Given the description of an element on the screen output the (x, y) to click on. 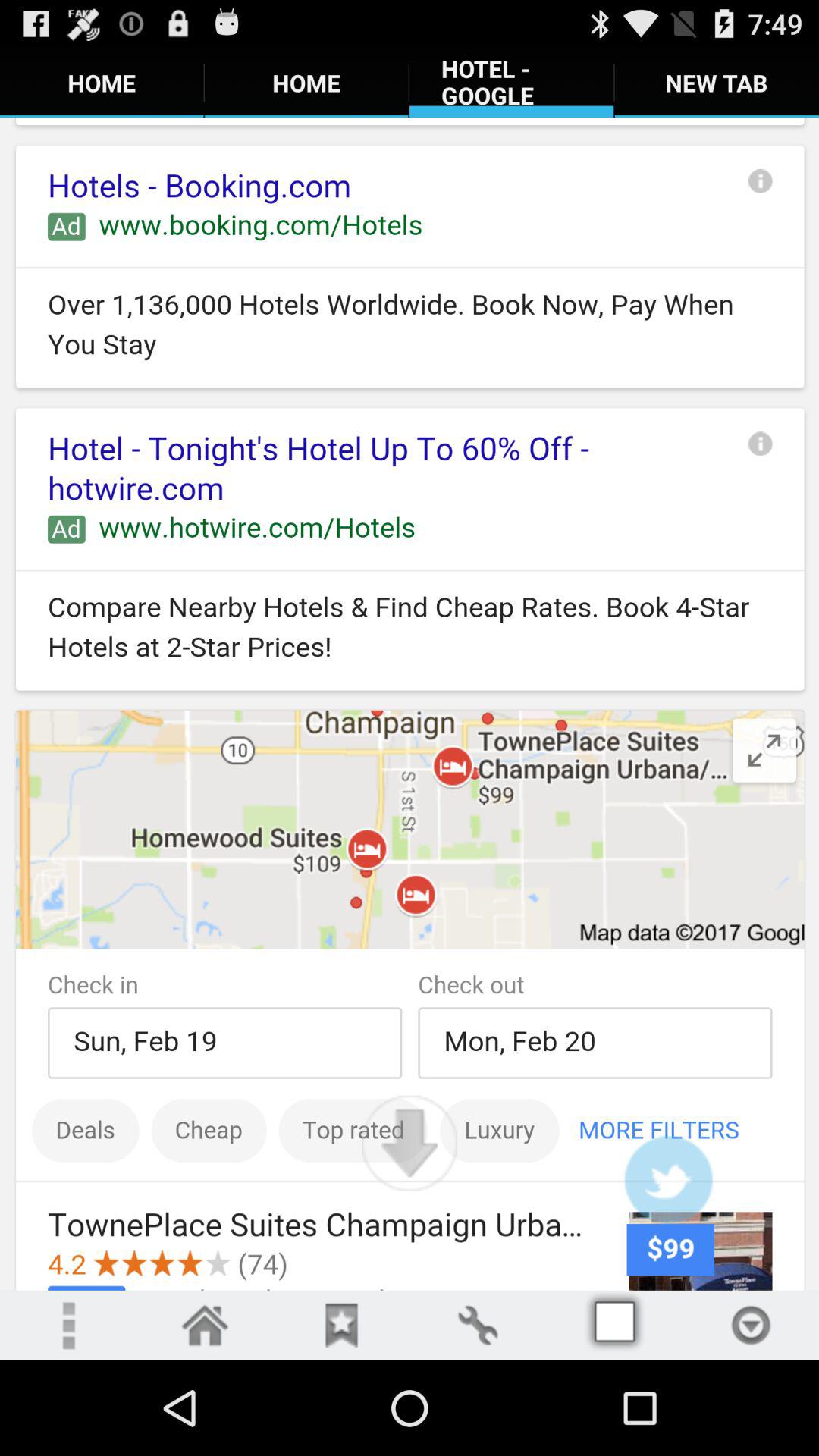
open more settings (750, 1325)
